Given the description of an element on the screen output the (x, y) to click on. 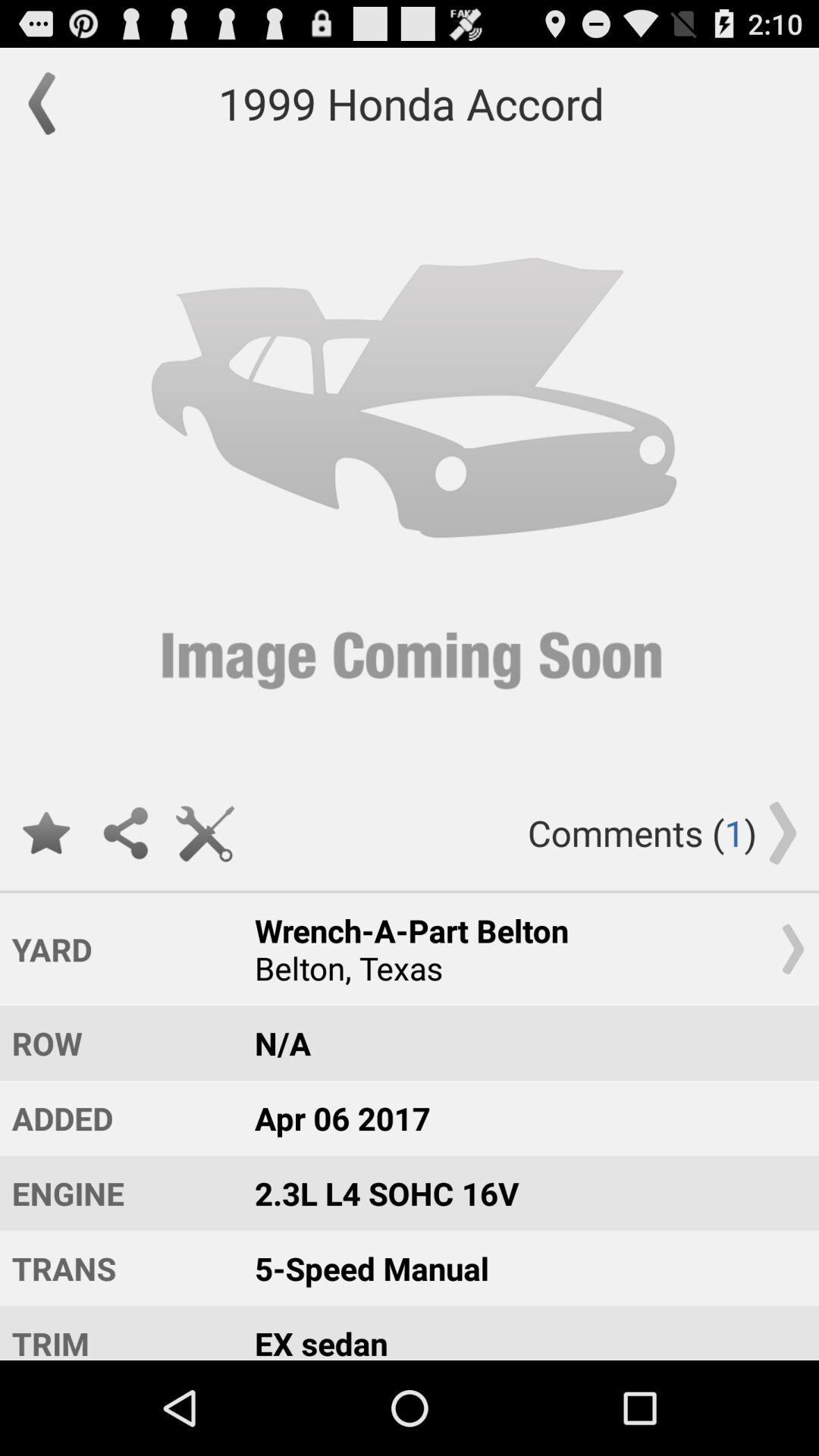
click item at the top left corner (49, 103)
